Given the description of an element on the screen output the (x, y) to click on. 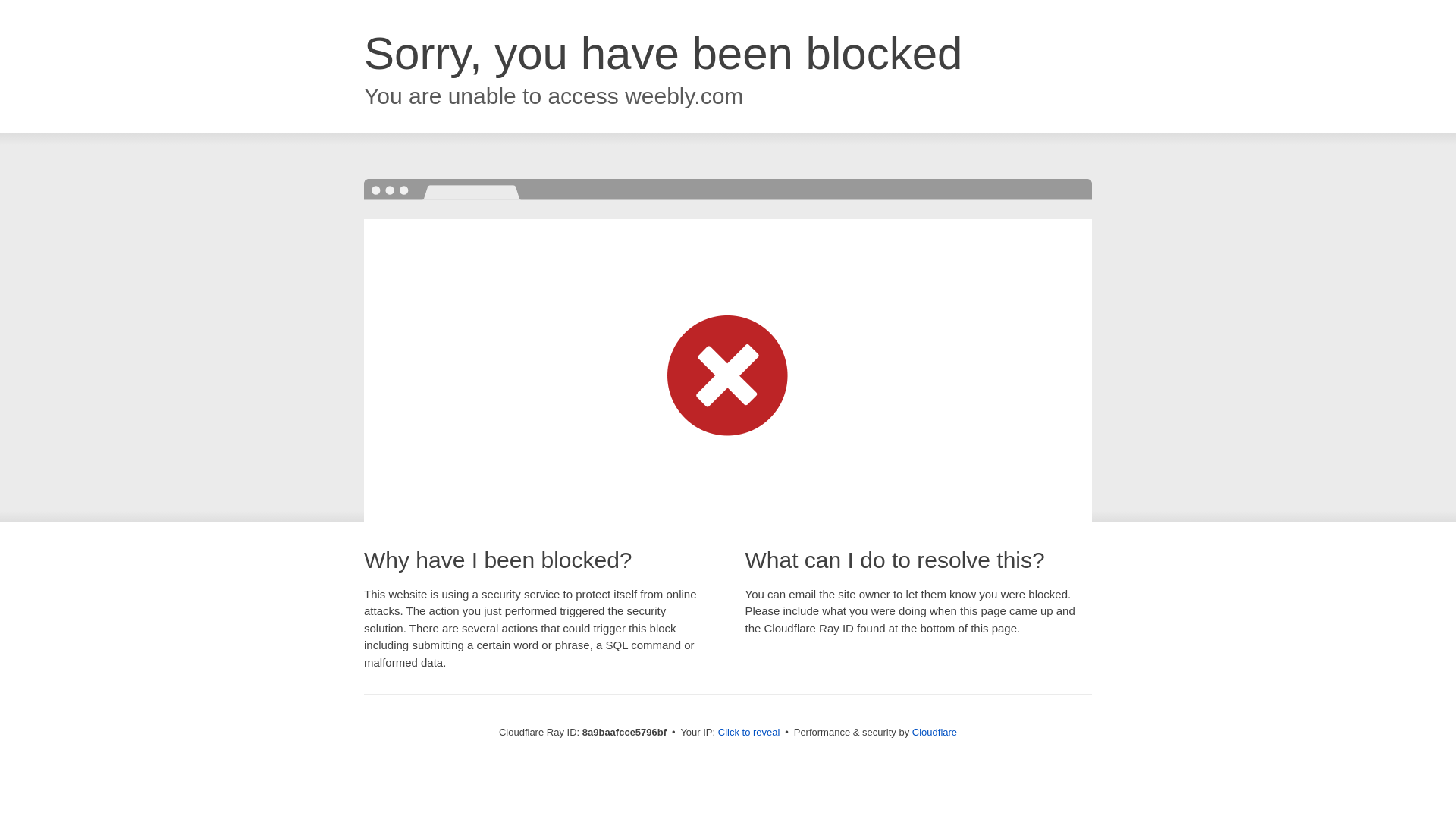
Cloudflare (934, 731)
Click to reveal (748, 732)
